Given the description of an element on the screen output the (x, y) to click on. 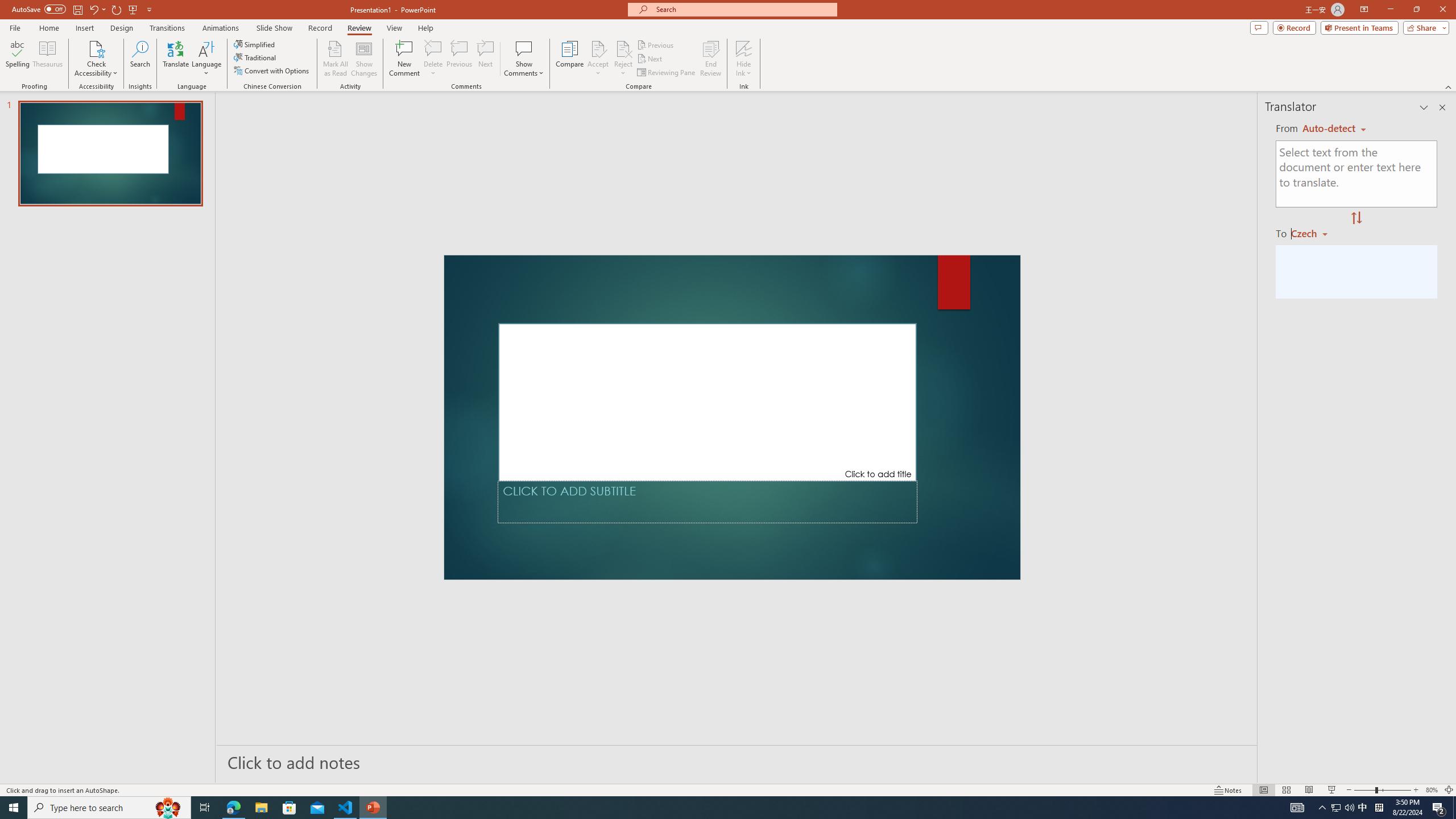
Simplified (254, 44)
Accept Change (598, 48)
English (1334, 128)
